Given the description of an element on the screen output the (x, y) to click on. 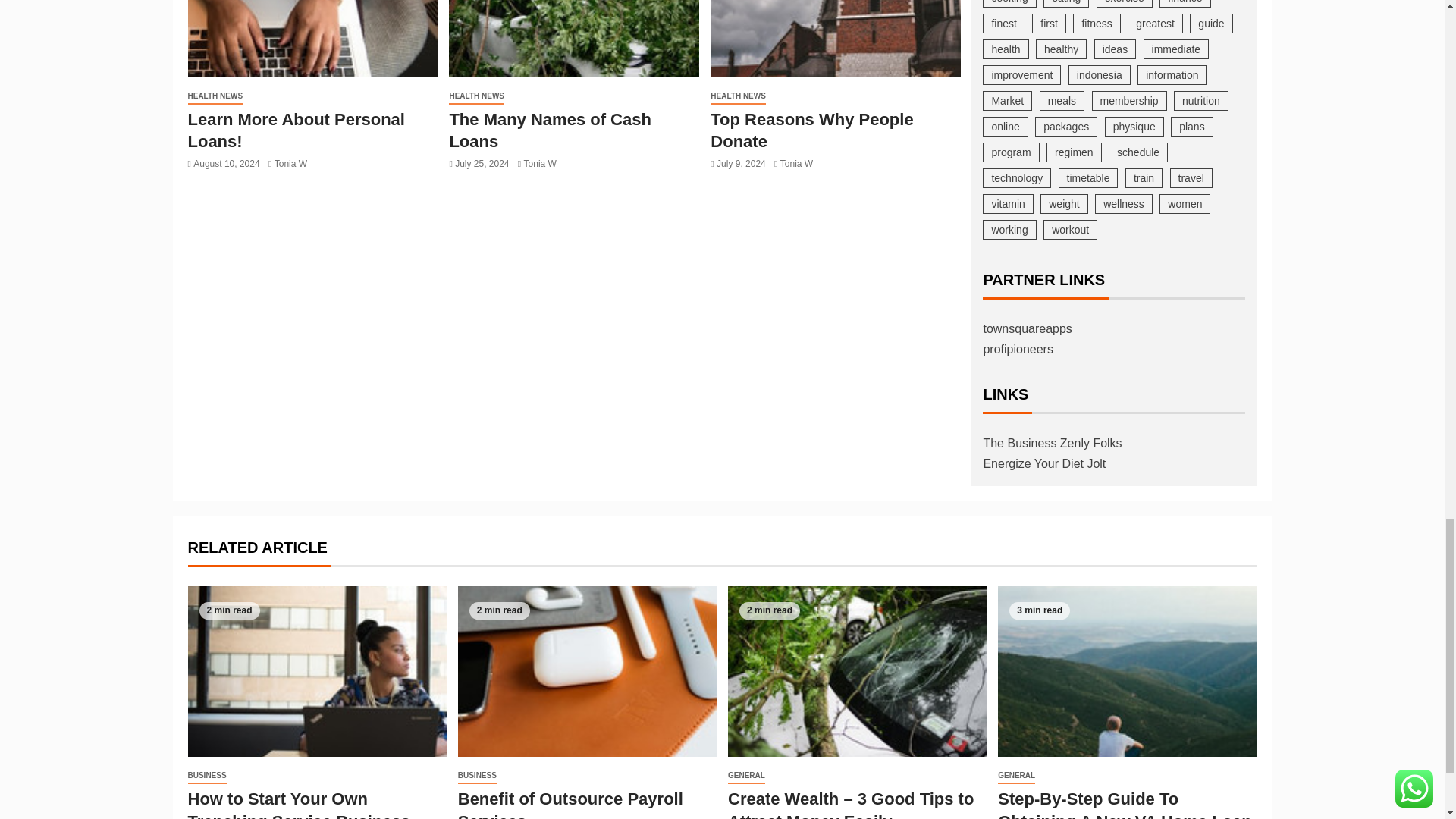
Top Reasons Why People Donate (835, 38)
Learn More About Personal Loans! (312, 38)
The Many Names of Cash Loans (573, 38)
